Given the description of an element on the screen output the (x, y) to click on. 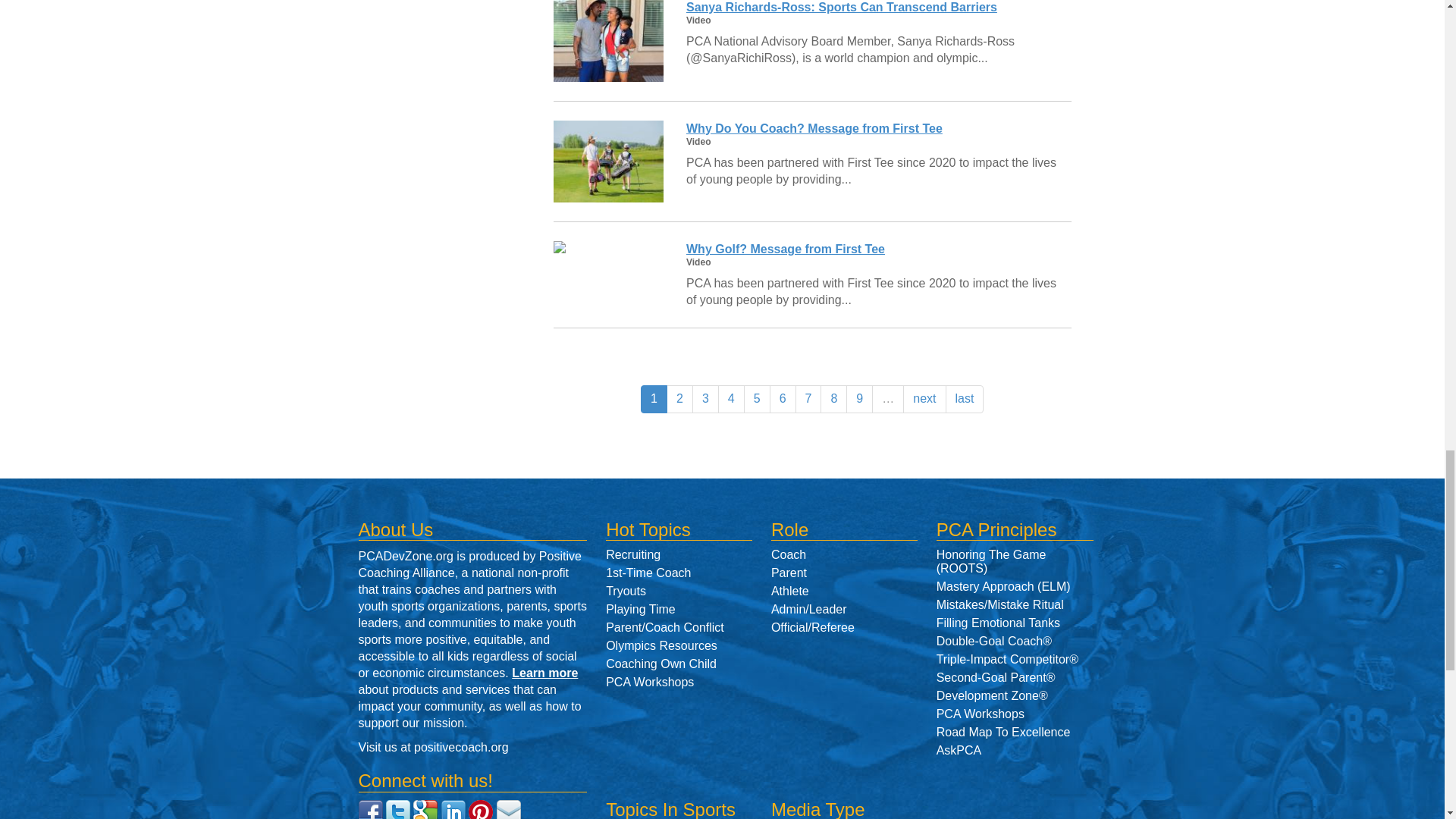
Go to page 7 (808, 398)
Go to page 9 (858, 398)
Go to page 4 (730, 398)
Go to page 3 (706, 398)
Go to page 5 (757, 398)
Go to page 8 (834, 398)
Go to page 6 (783, 398)
Go to page 2 (679, 398)
